Given the description of an element on the screen output the (x, y) to click on. 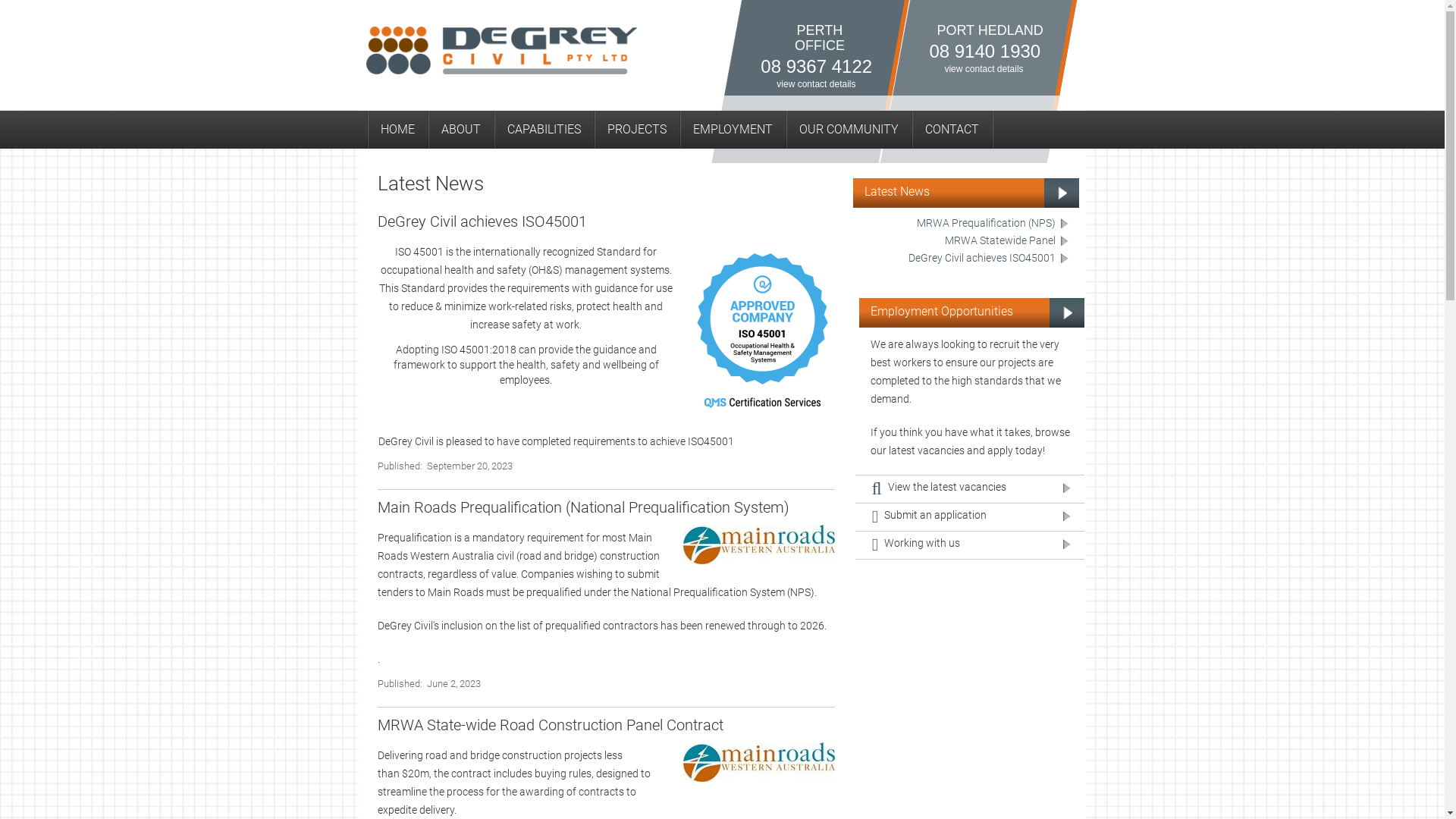
PROJECTS Element type: text (635, 129)
view contact details Element type: text (983, 68)
CONTACT Element type: text (952, 129)
EMPLOYMENT Element type: text (732, 129)
  Element type: text (994, 131)
view contact details Element type: text (815, 83)
CAPABILITIES Element type: text (543, 129)
08 9367 4122 Element type: text (816, 66)
HOME Element type: text (397, 129)
DeGrey Civil achieves ISO45001 Element type: text (989, 258)
OUR COMMUNITY Element type: text (848, 129)
Submit an application Element type: text (969, 517)
08 9140 1930 Element type: text (984, 50)
MRWA Prequalification (NPS) Element type: text (993, 223)
MRWA Statewide Panel Element type: text (1007, 241)
Working with us Element type: text (969, 545)
View the latest vacancies Element type: text (969, 488)
ABOUT Element type: text (460, 129)
